Given the description of an element on the screen output the (x, y) to click on. 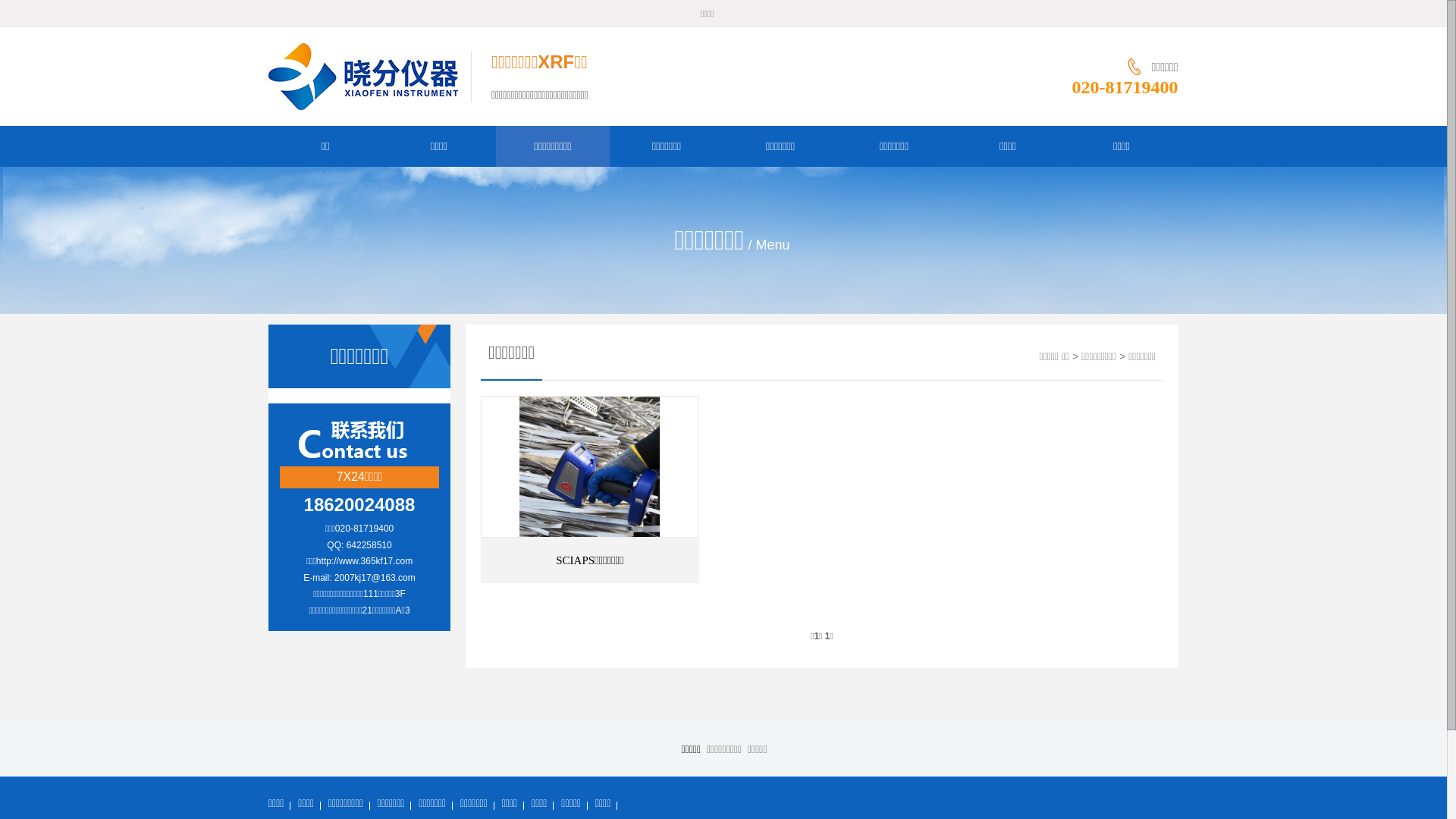
020-81719400 Element type: text (1125, 87)
